Given the description of an element on the screen output the (x, y) to click on. 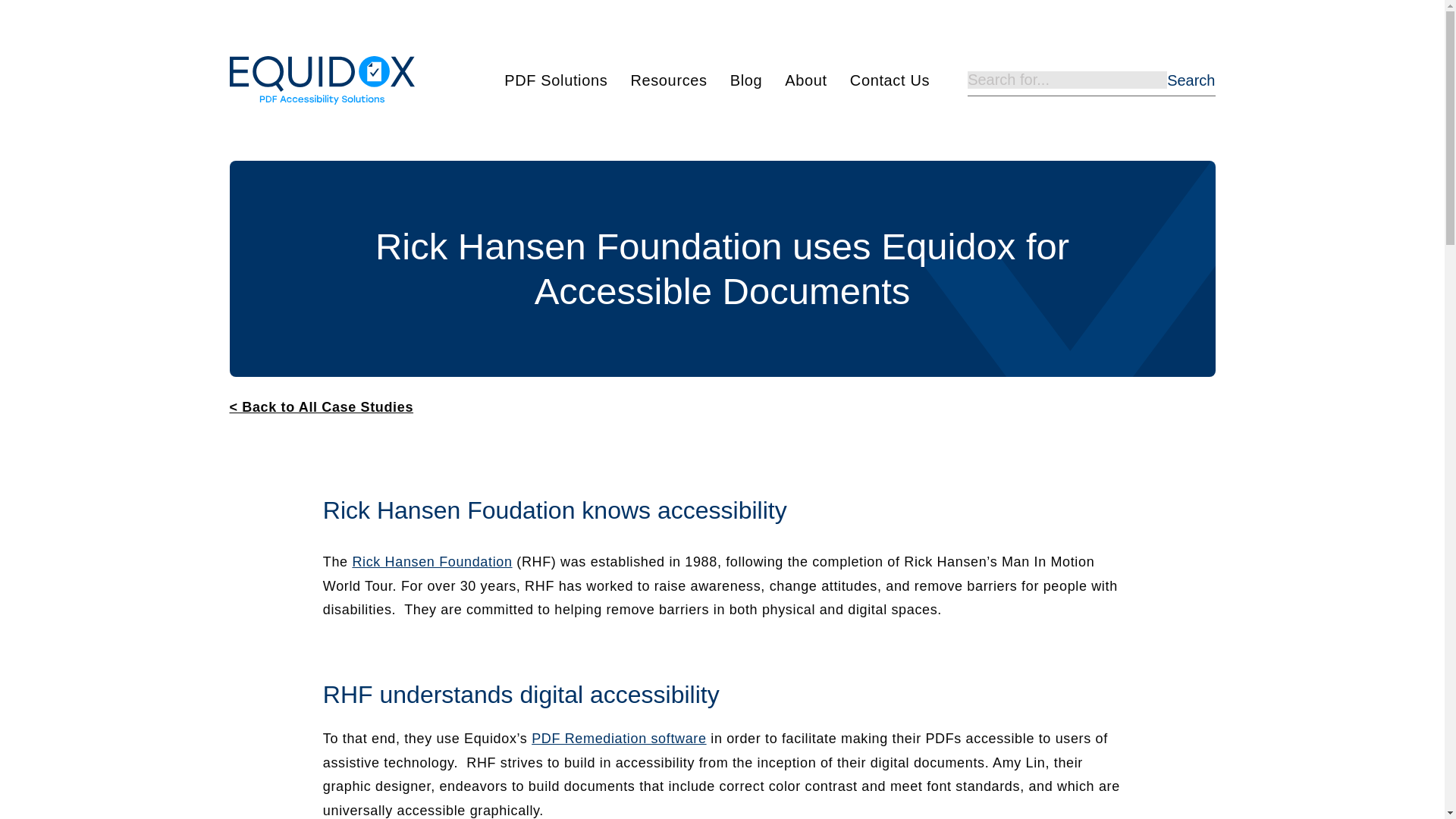
PDF Solutions (555, 79)
Search for: (1067, 79)
Search (1190, 79)
Search (1190, 79)
Resources (668, 79)
